Given the description of an element on the screen output the (x, y) to click on. 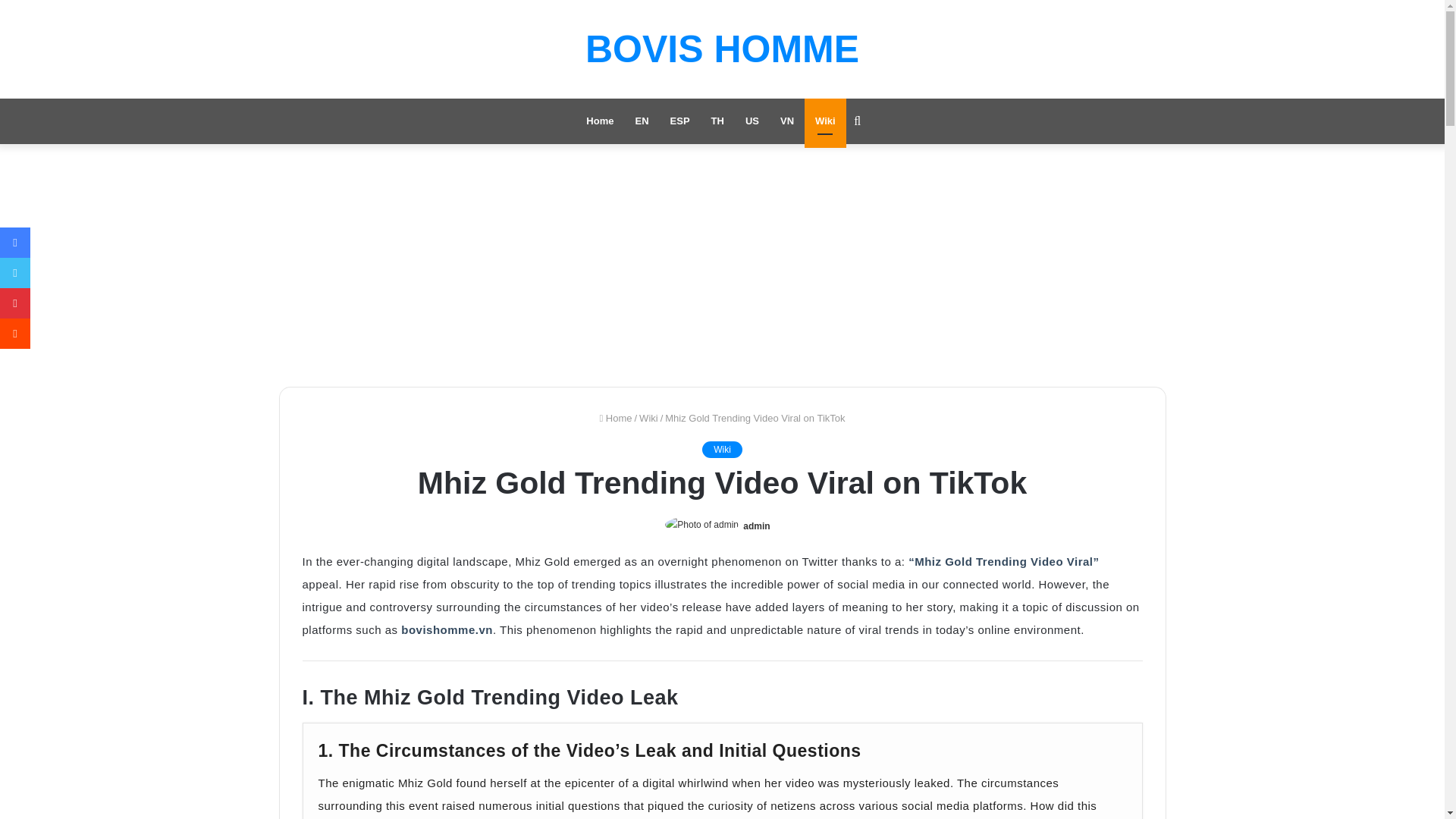
Wiki (721, 449)
Wiki (648, 418)
admin (756, 525)
bovishomme.vn (447, 629)
admin (756, 525)
BOVIS HOMME (722, 48)
Wiki (825, 121)
ESP (679, 121)
Home (599, 121)
